Given the description of an element on the screen output the (x, y) to click on. 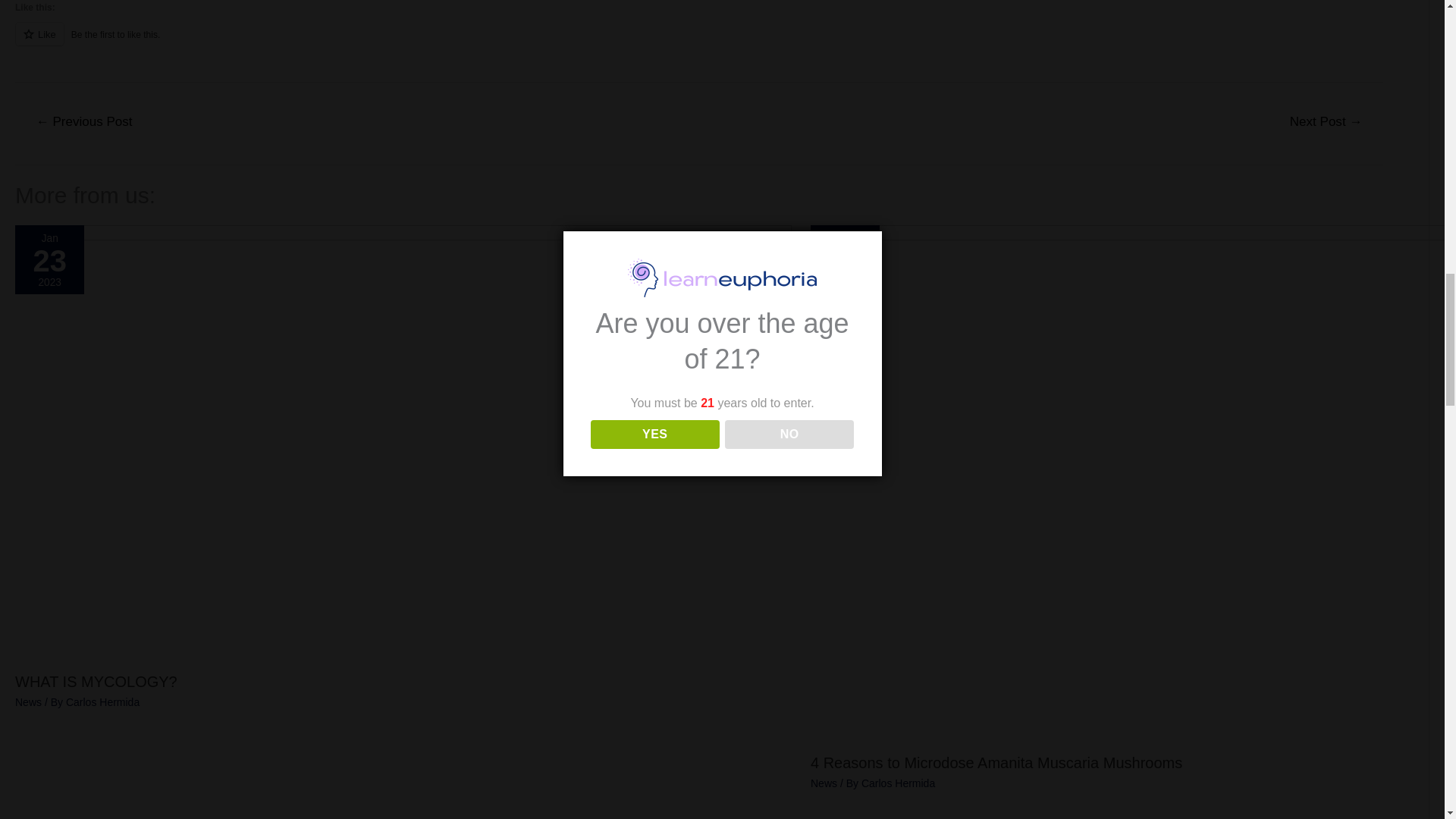
View all posts by Carlos Hermida (102, 702)
View all posts by Carlos Hermida (897, 783)
Like or Reblog (698, 42)
